Given the description of an element on the screen output the (x, y) to click on. 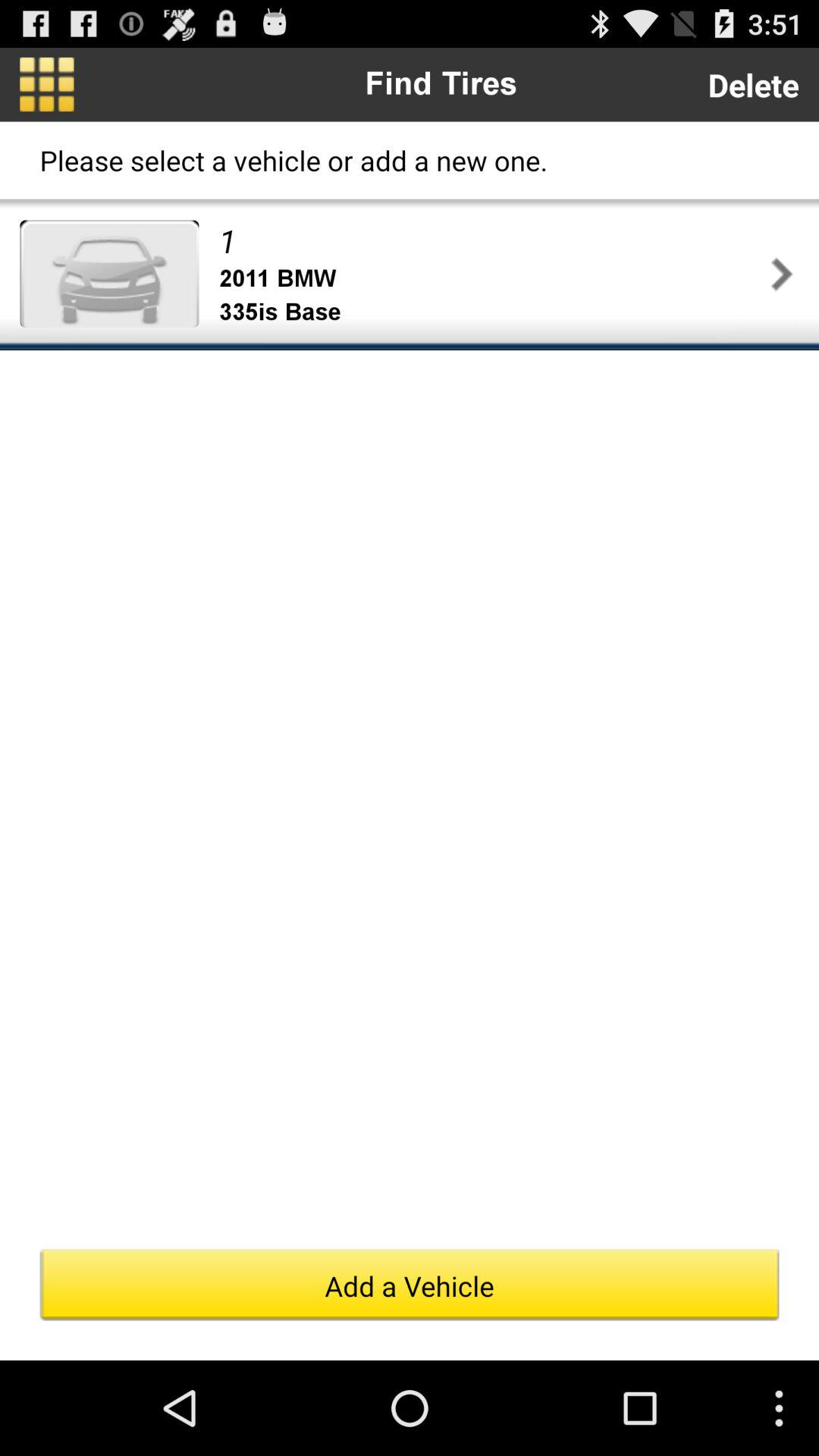
launch item below 2011 bmw (491, 312)
